Given the description of an element on the screen output the (x, y) to click on. 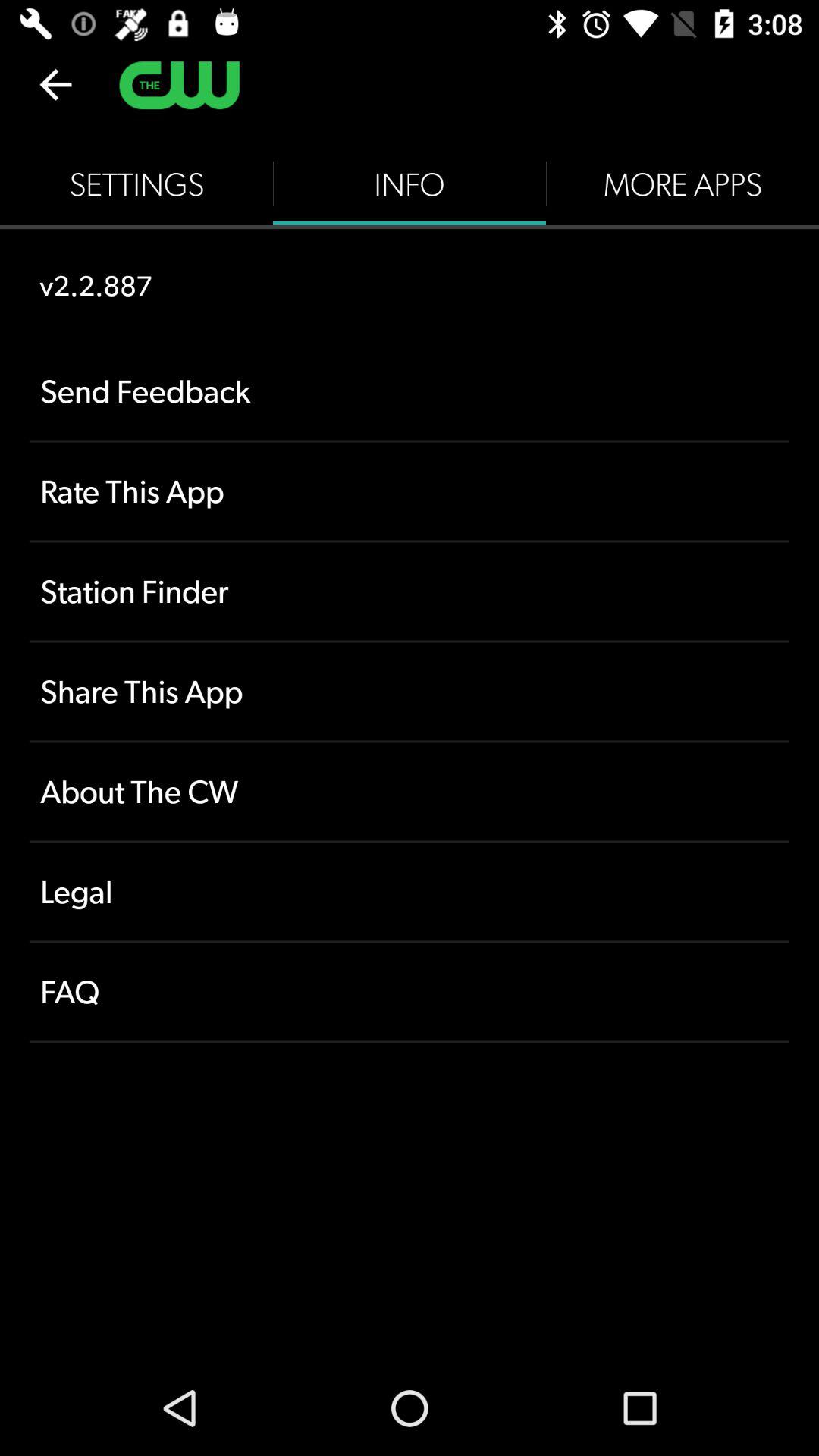
jump until the send feedback (409, 391)
